Given the description of an element on the screen output the (x, y) to click on. 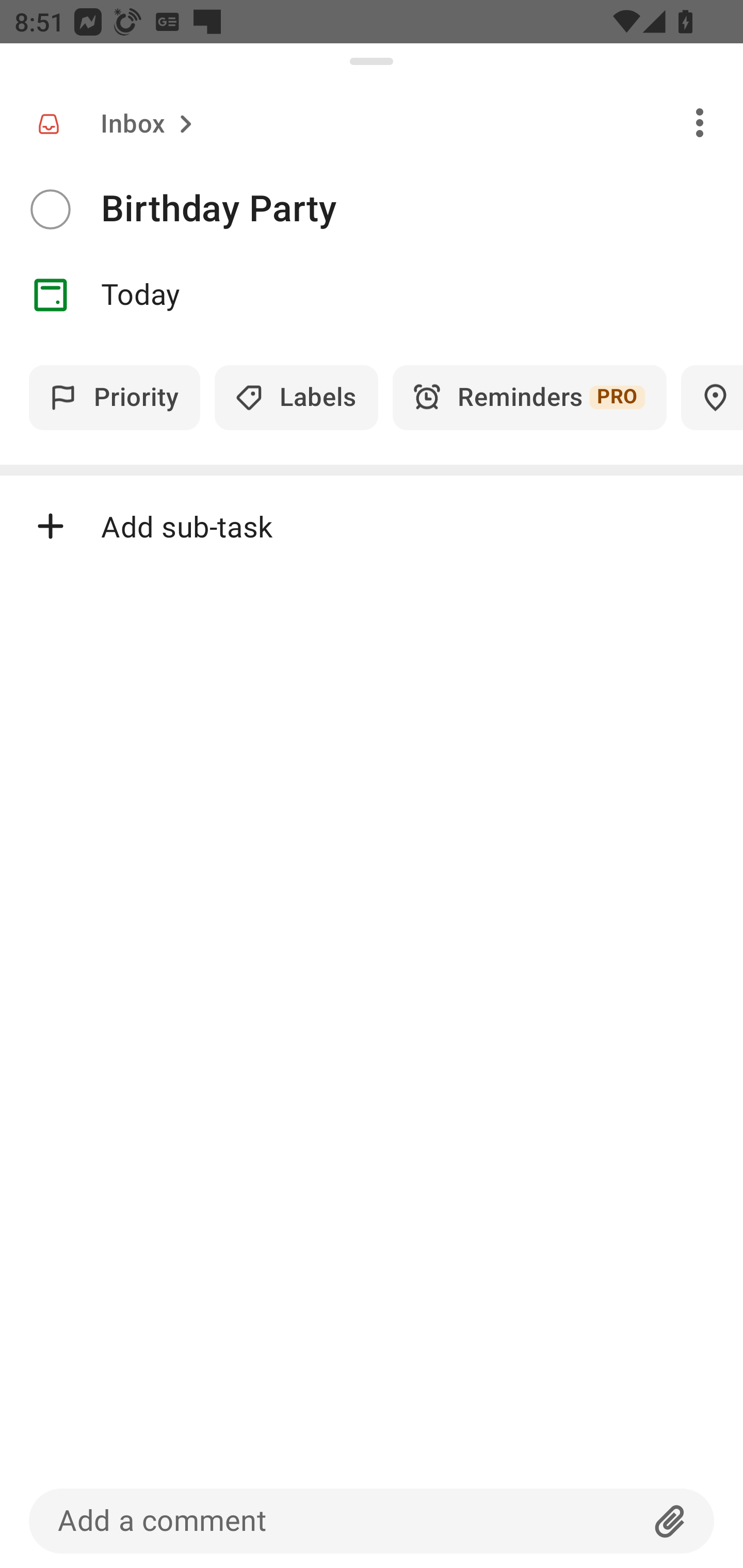
Overflow menu (699, 122)
Complete (50, 209)
Birthday Party​ (422, 209)
Date Today (371, 295)
Priority (113, 397)
Labels (296, 397)
Reminders PRO (529, 397)
Locations PRO (712, 397)
Add sub-task (371, 525)
Add a comment Attachment (371, 1520)
Attachment (670, 1520)
